Given the description of an element on the screen output the (x, y) to click on. 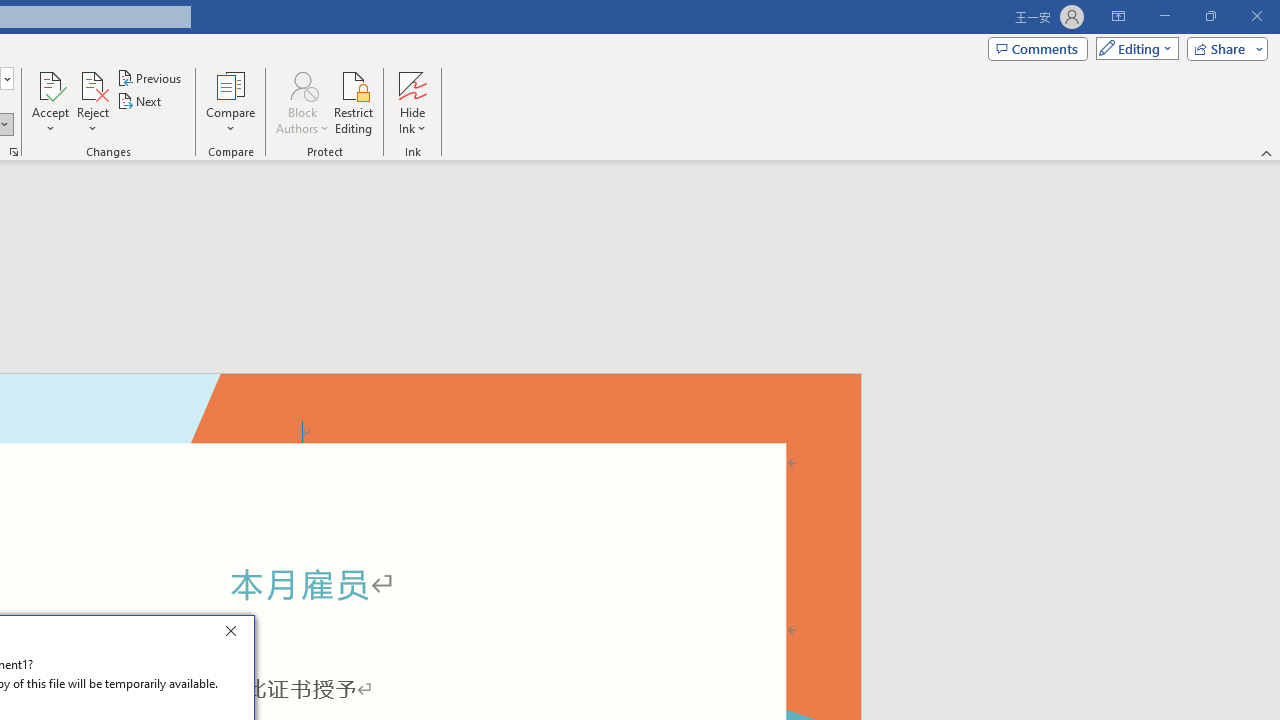
Hide Ink (412, 102)
More Options (412, 121)
Restrict Editing (353, 102)
Reject and Move to Next (92, 84)
Next (140, 101)
Accept and Move to Next (50, 84)
Collapse the Ribbon (1267, 152)
Open (6, 78)
Restore Down (1210, 16)
Close (236, 633)
Comments (1038, 48)
Block Authors (302, 102)
Previous (150, 78)
Mode (1133, 47)
